Given the description of an element on the screen output the (x, y) to click on. 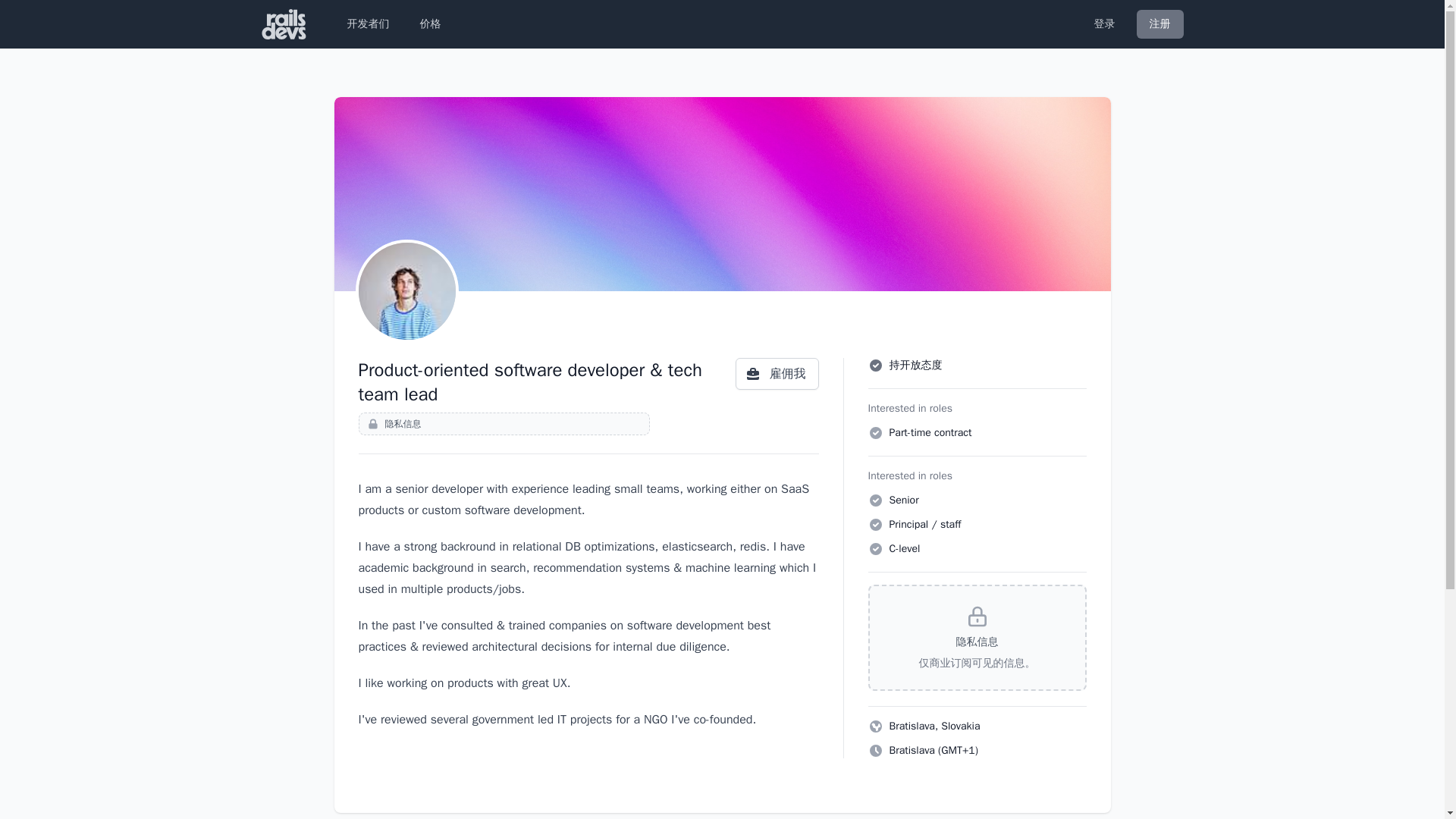
Check Circle (874, 365)
Check Circle (874, 500)
RailsDevs (283, 24)
Check Circle (874, 548)
Clock (874, 750)
Check Circle (874, 432)
Check Circle (874, 524)
